Given the description of an element on the screen output the (x, y) to click on. 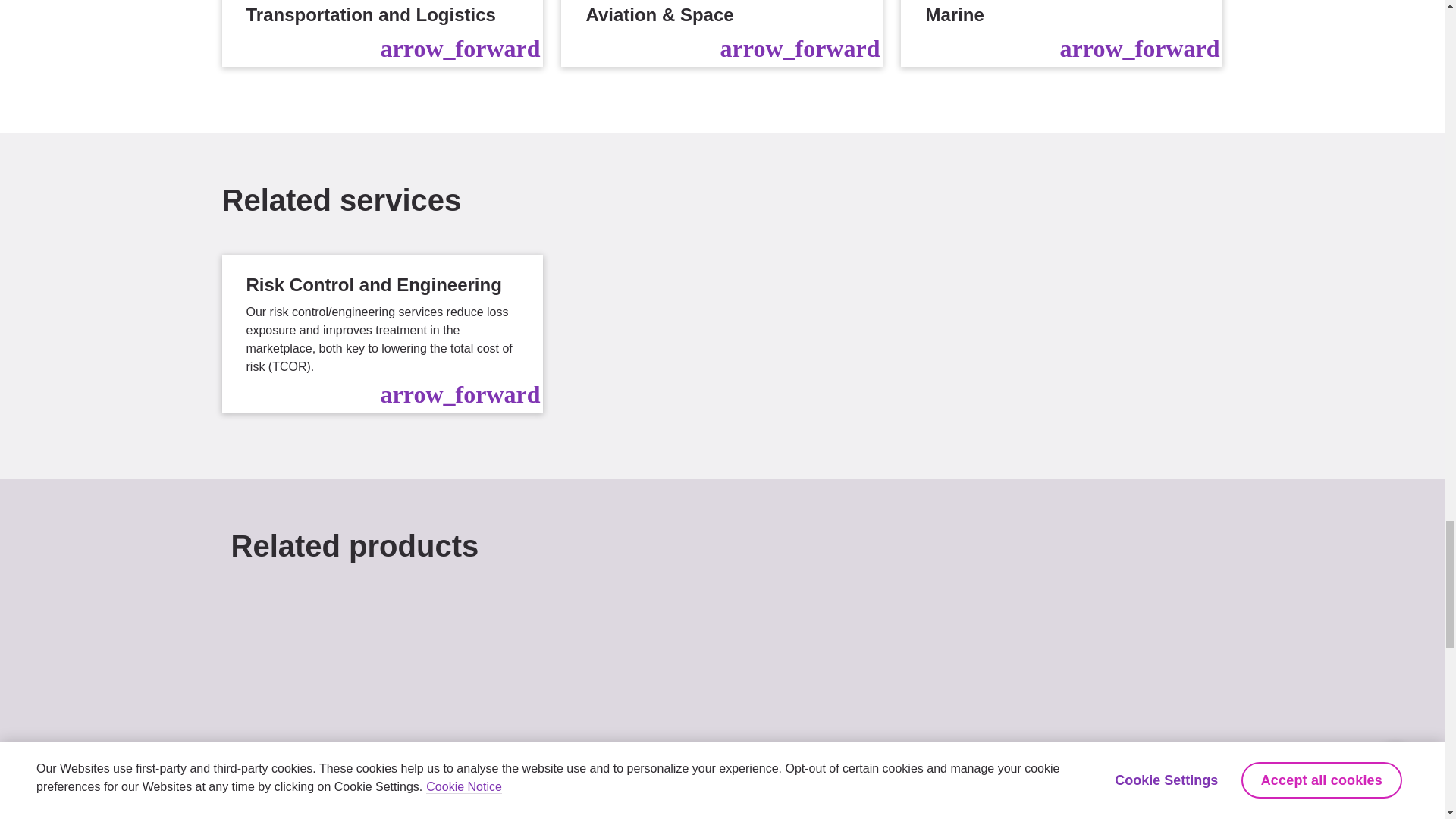
Risk Control and Engineering (382, 333)
Marine (1062, 33)
Transportation and Logistics (382, 33)
